Given the description of an element on the screen output the (x, y) to click on. 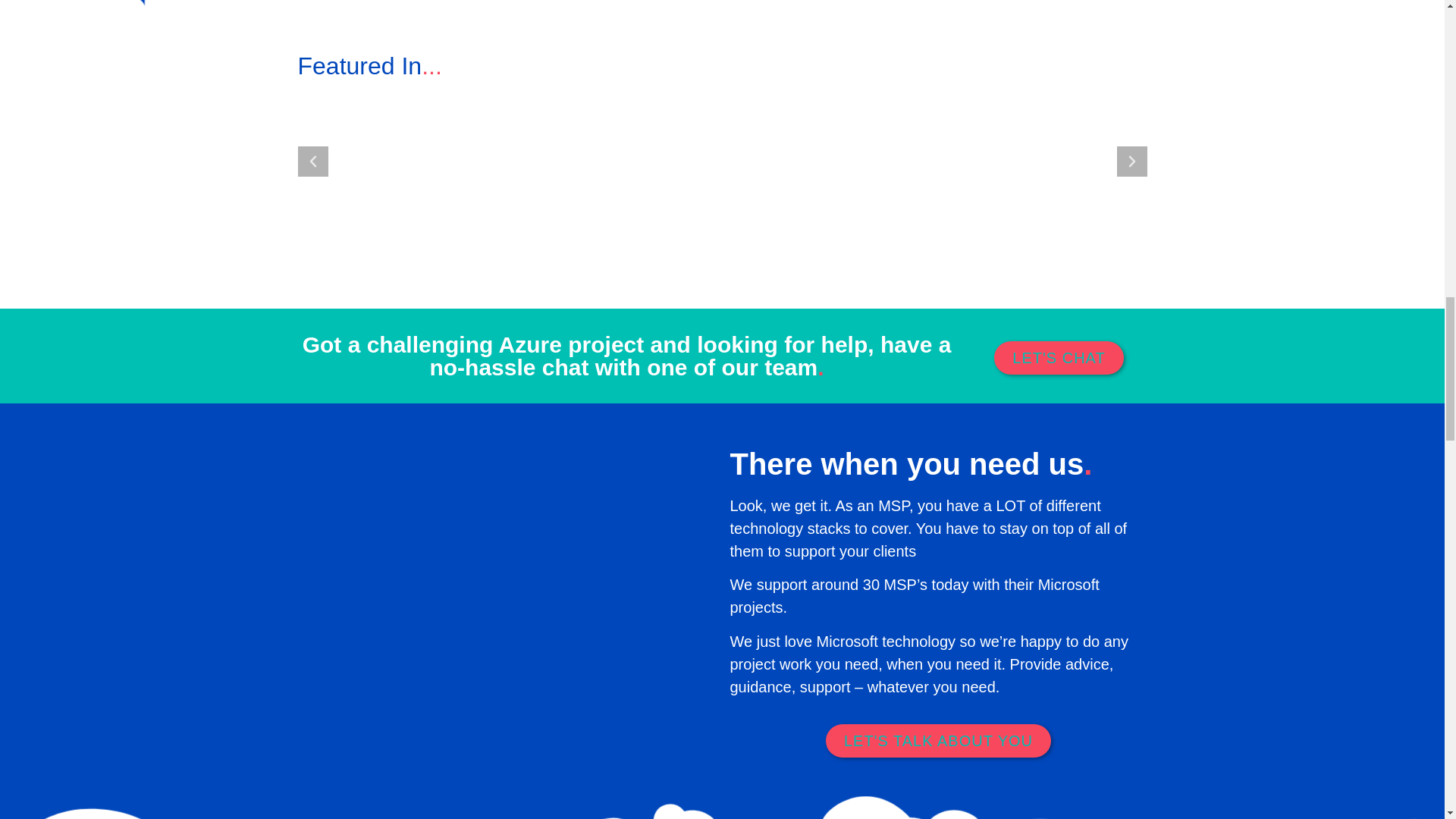
LET'S CHAT (1058, 357)
LET'S TALK ABOUT YOU (938, 740)
